Given the description of an element on the screen output the (x, y) to click on. 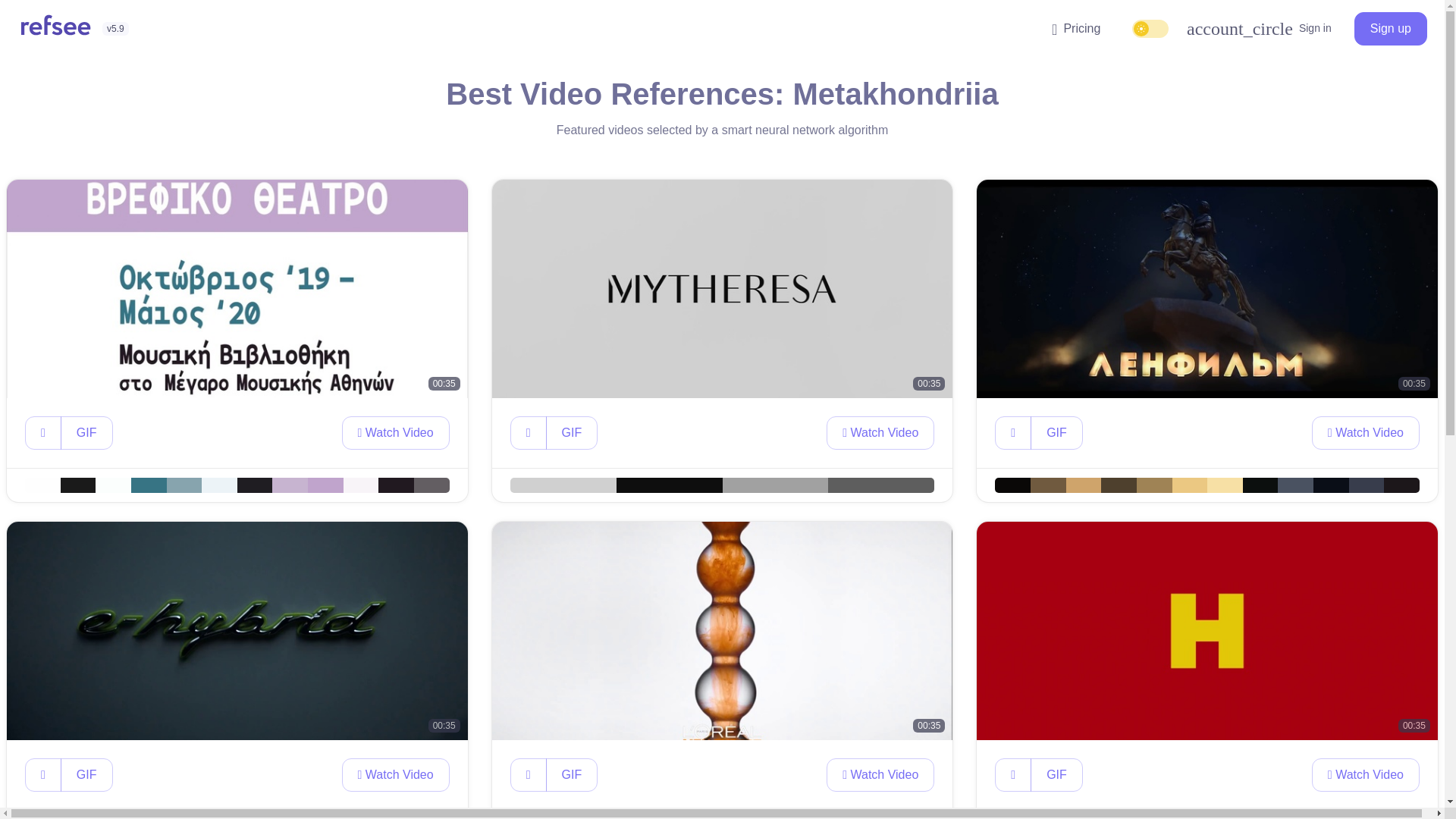
GIF (572, 432)
v5.9 (115, 29)
00:35 (237, 630)
on (1168, 37)
Watch Video (1365, 432)
Watch Video (880, 432)
GIF (87, 774)
GIF (572, 774)
00:35 (722, 288)
00:35 (237, 288)
Sign up (1390, 28)
Watch Video (395, 774)
00:35 (722, 630)
Watch Video (880, 774)
00:35 (1207, 288)
